Given the description of an element on the screen output the (x, y) to click on. 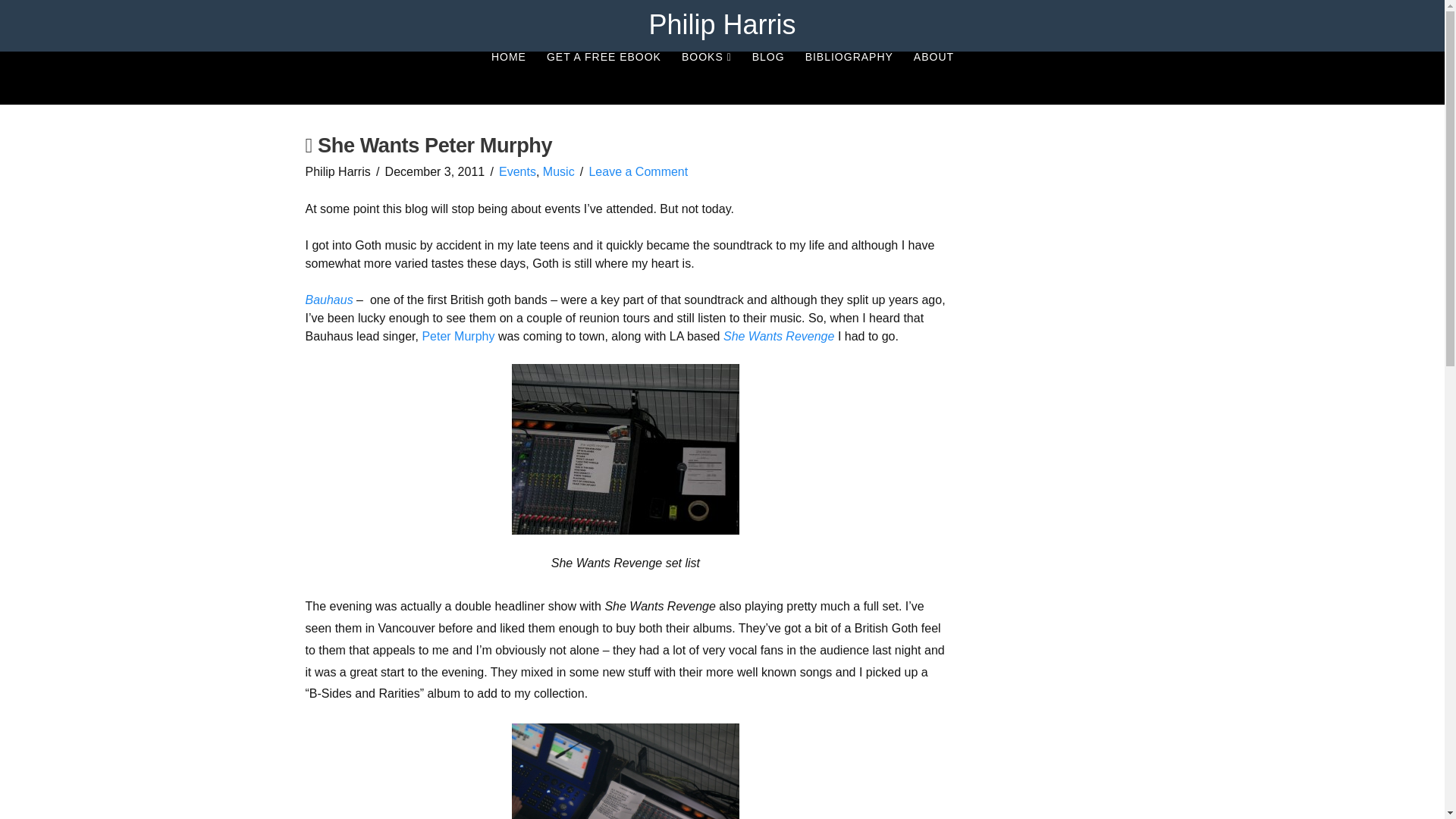
BIBLIOGRAPHY (848, 77)
Peter Murphy (458, 336)
shewantssetlist (625, 448)
ABOUT (932, 77)
GET A FREE EBOOK (603, 77)
Music (559, 171)
HOME (507, 77)
BOOKS (706, 77)
BLOG (767, 77)
Philip Harris (720, 24)
